Given the description of an element on the screen output the (x, y) to click on. 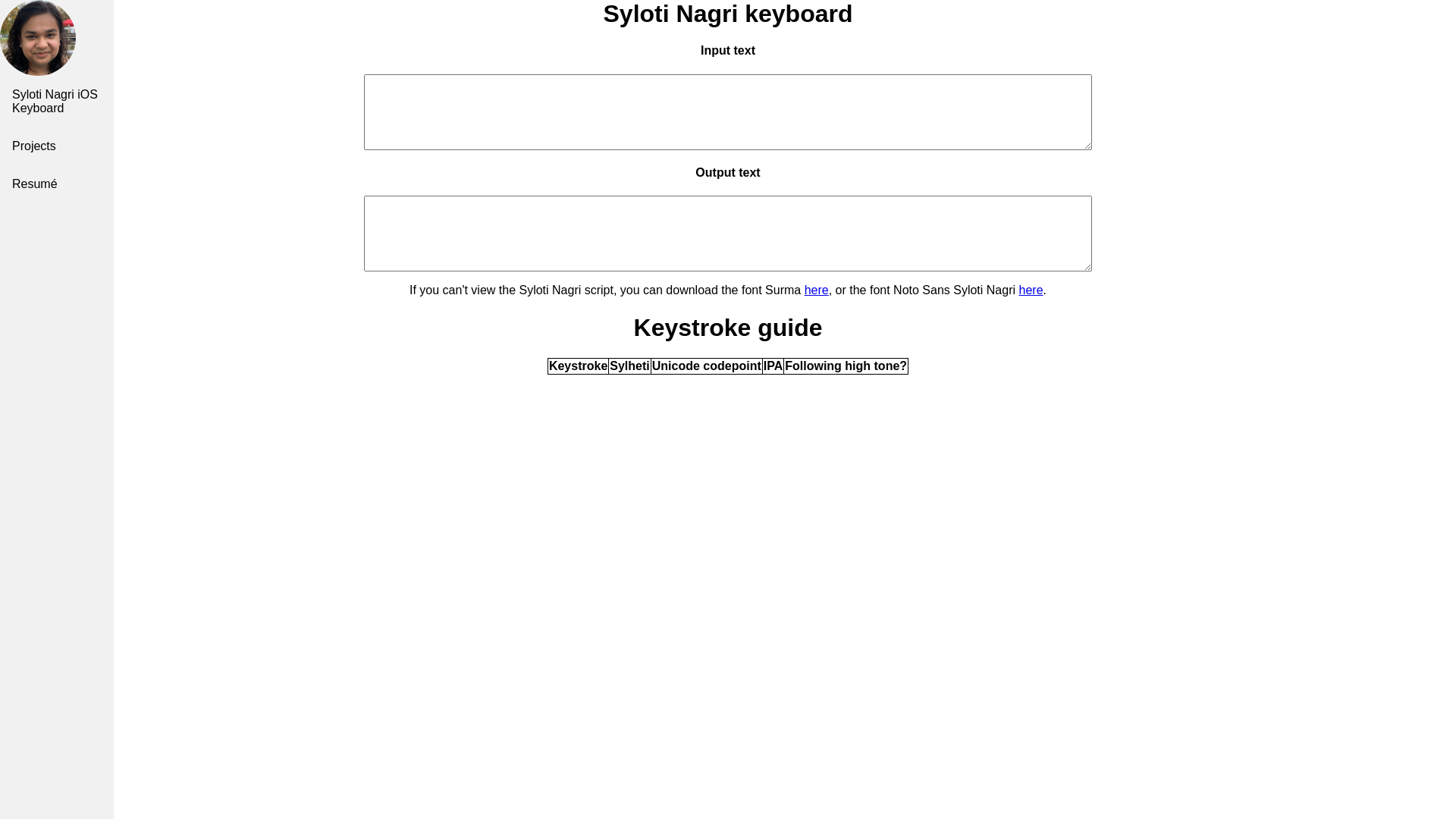
Projects Element type: text (56, 146)
here Element type: text (816, 289)
Syloti Nagri iOS Keyboard Element type: text (56, 101)
here Element type: text (1031, 289)
